Given the description of an element on the screen output the (x, y) to click on. 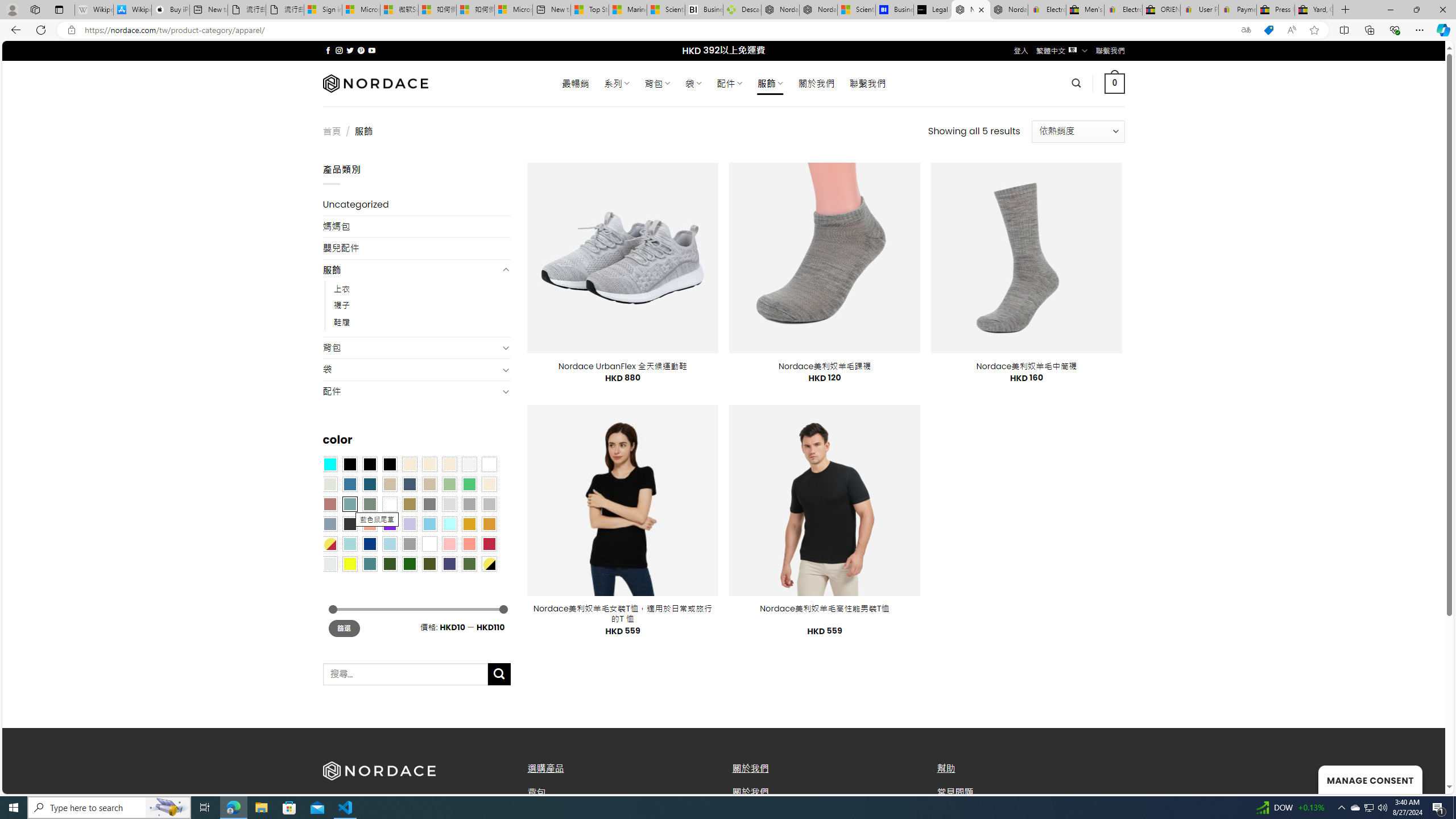
  0   (1115, 83)
Follow on Twitter (349, 50)
Cream (449, 464)
Uncategorized (416, 204)
Follow on Pinterest (360, 50)
